Given the description of an element on the screen output the (x, y) to click on. 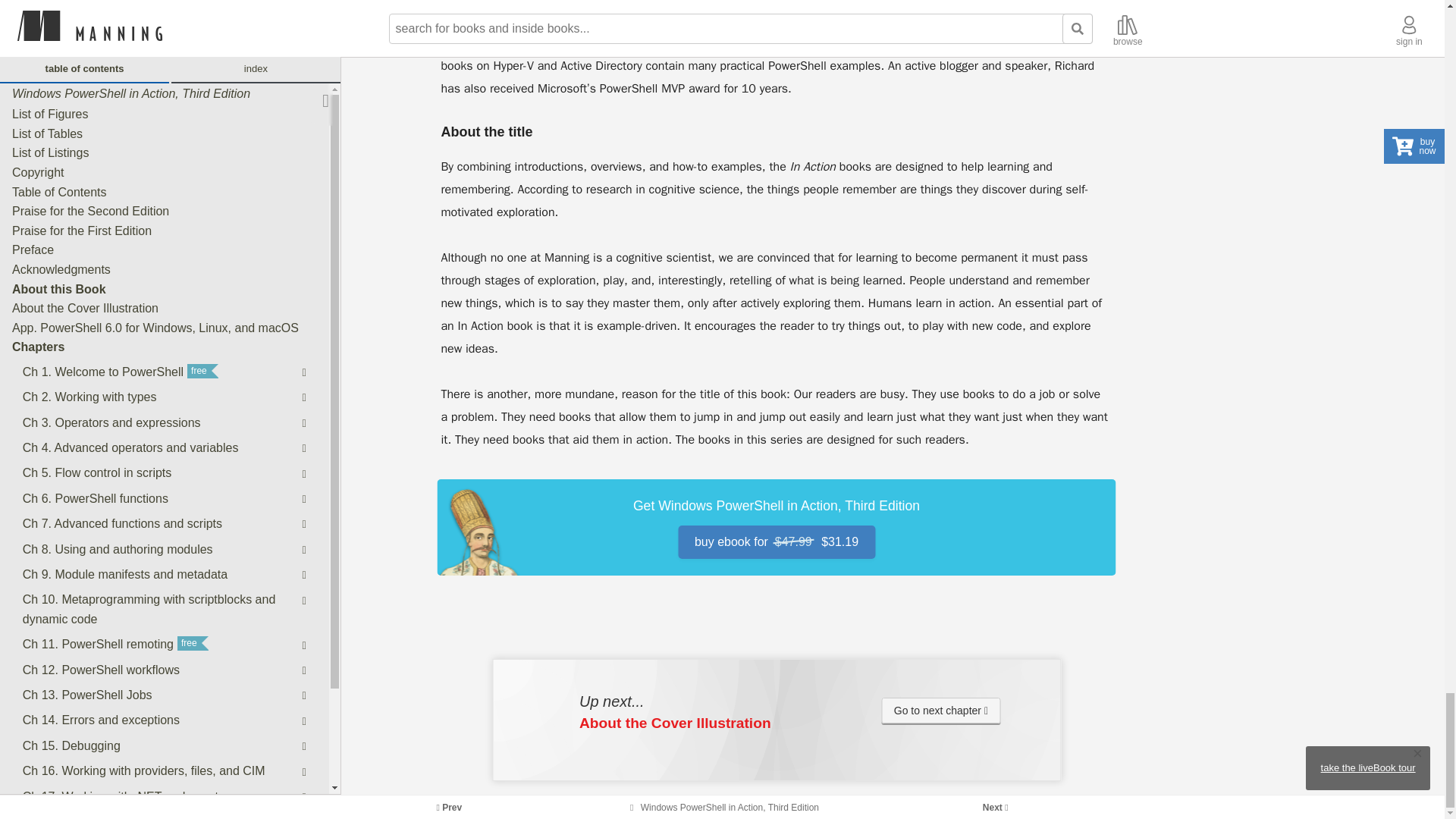
About the Cover Illustration (941, 710)
